Given the description of an element on the screen output the (x, y) to click on. 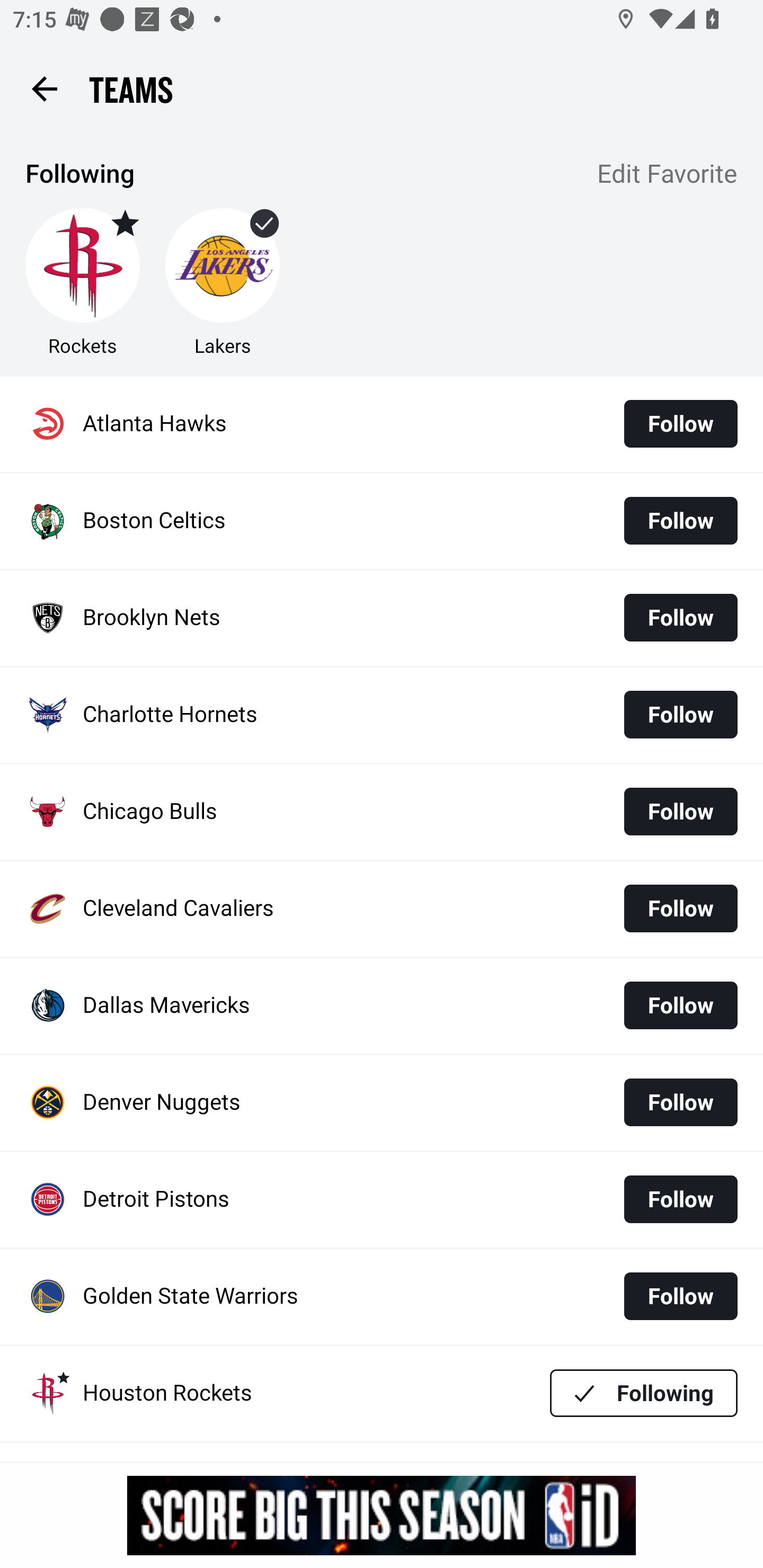
Back button (44, 88)
Edit Favorite (667, 175)
Atlanta Hawks Follow (381, 423)
Follow (680, 423)
Boston Celtics Follow (381, 521)
Follow (680, 520)
Brooklyn Nets Follow (381, 618)
Follow (680, 617)
Charlotte Hornets Follow (381, 714)
Follow (680, 713)
Chicago Bulls Follow (381, 812)
Follow (680, 811)
Cleveland Cavaliers Follow (381, 908)
Follow (680, 908)
Dallas Mavericks Follow (381, 1005)
Follow (680, 1005)
Denver Nuggets Follow (381, 1102)
Follow (680, 1101)
Detroit Pistons Follow (381, 1200)
Follow (680, 1199)
Golden State Warriors Follow (381, 1296)
Follow (680, 1295)
Houston Rockets Following (381, 1392)
Following (643, 1392)
g5nqqygr7owph (381, 1515)
